Given the description of an element on the screen output the (x, y) to click on. 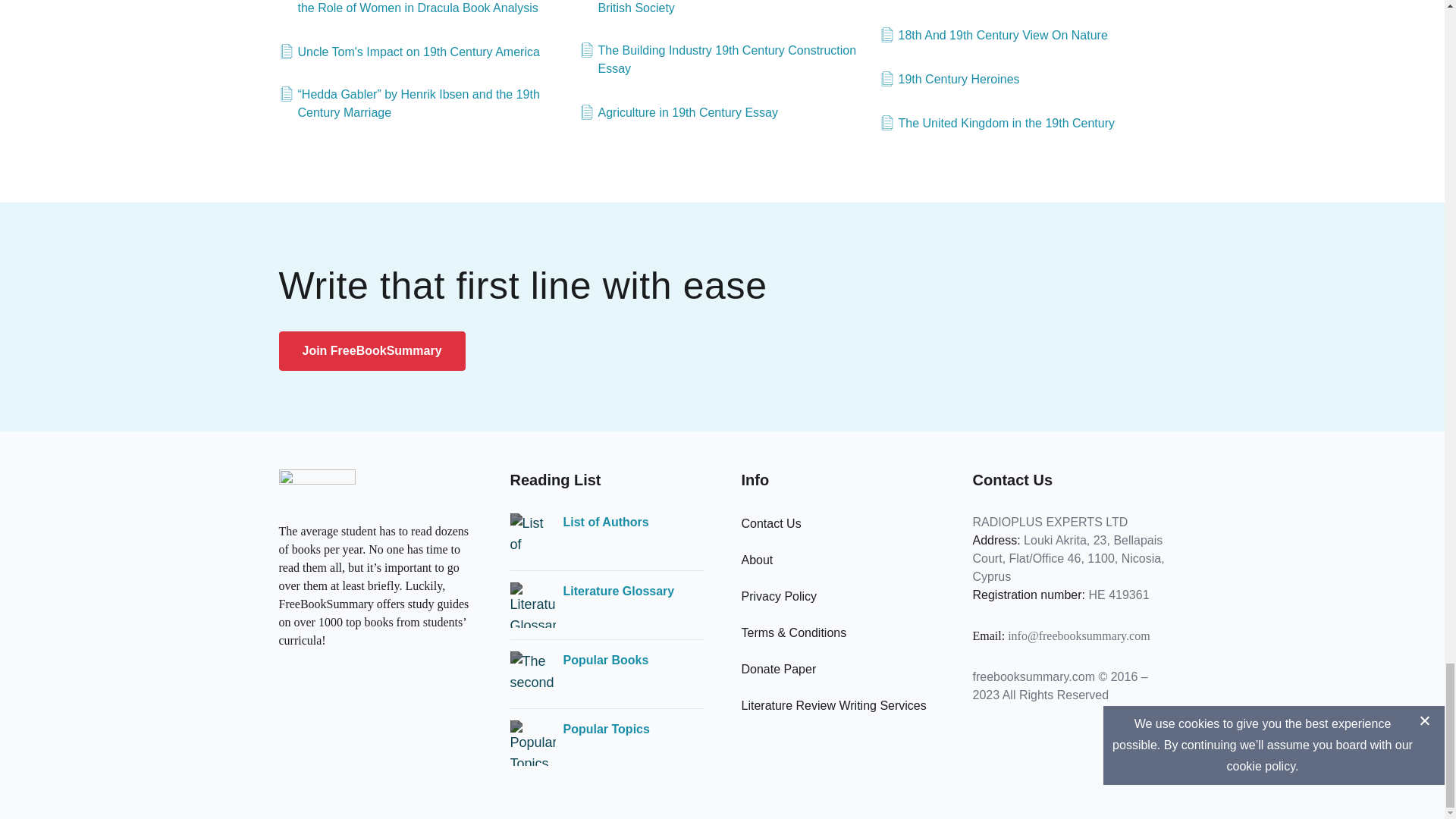
List of Authors (604, 522)
The Building Industry 19th Century Construction Essay (722, 59)
The United Kingdom in the 19th Century (997, 123)
Uncle Tom's Impact on 19th Century America (409, 52)
18th And 19th Century View On Nature (993, 35)
Agriculture in 19th Century Essay (678, 113)
19th Century Heroines (949, 79)
